Given the description of an element on the screen output the (x, y) to click on. 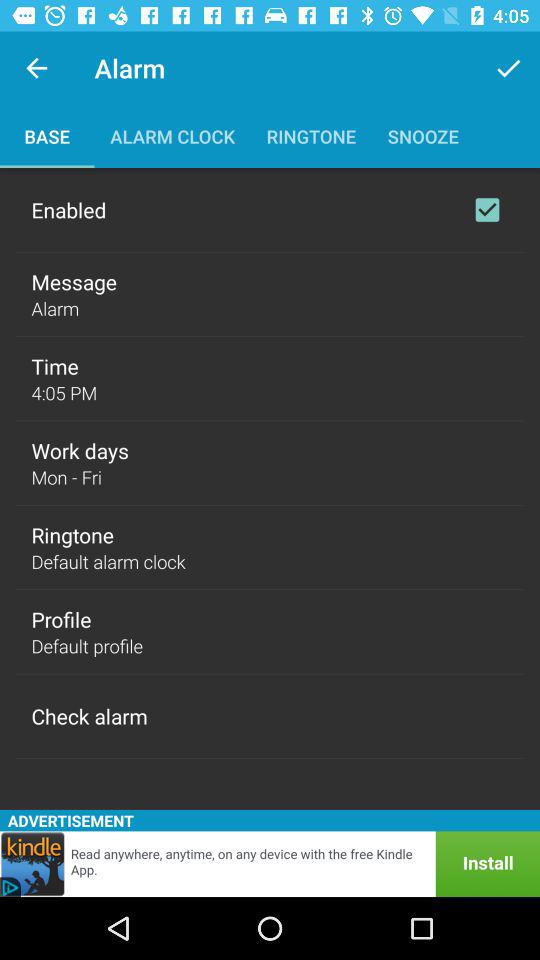
open icon above the base (36, 68)
